Given the description of an element on the screen output the (x, y) to click on. 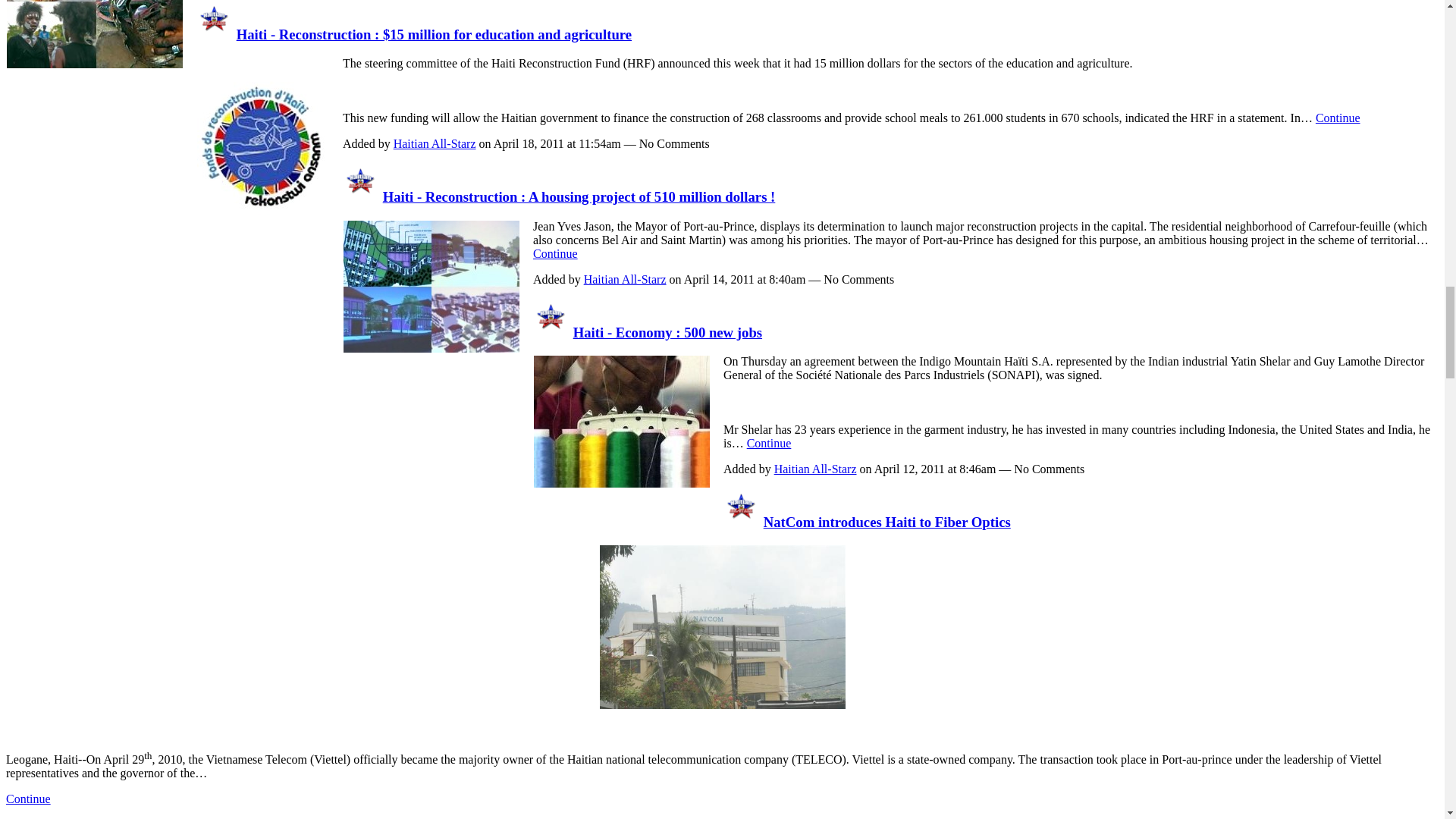
Haitian All-Starz (360, 196)
Haitian All-Starz (550, 332)
Haitian All-Starz (214, 34)
